Given the description of an element on the screen output the (x, y) to click on. 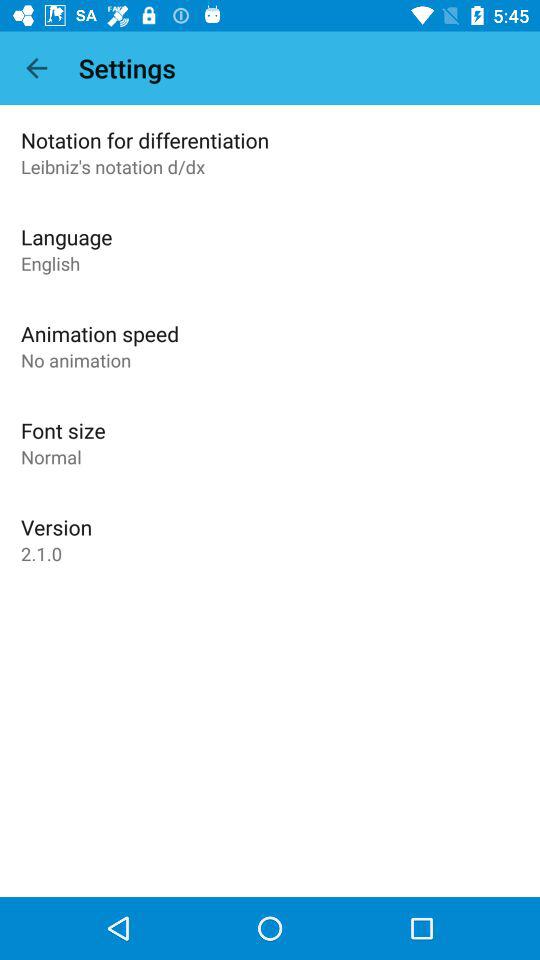
click the app above 2.1.0 icon (56, 527)
